Given the description of an element on the screen output the (x, y) to click on. 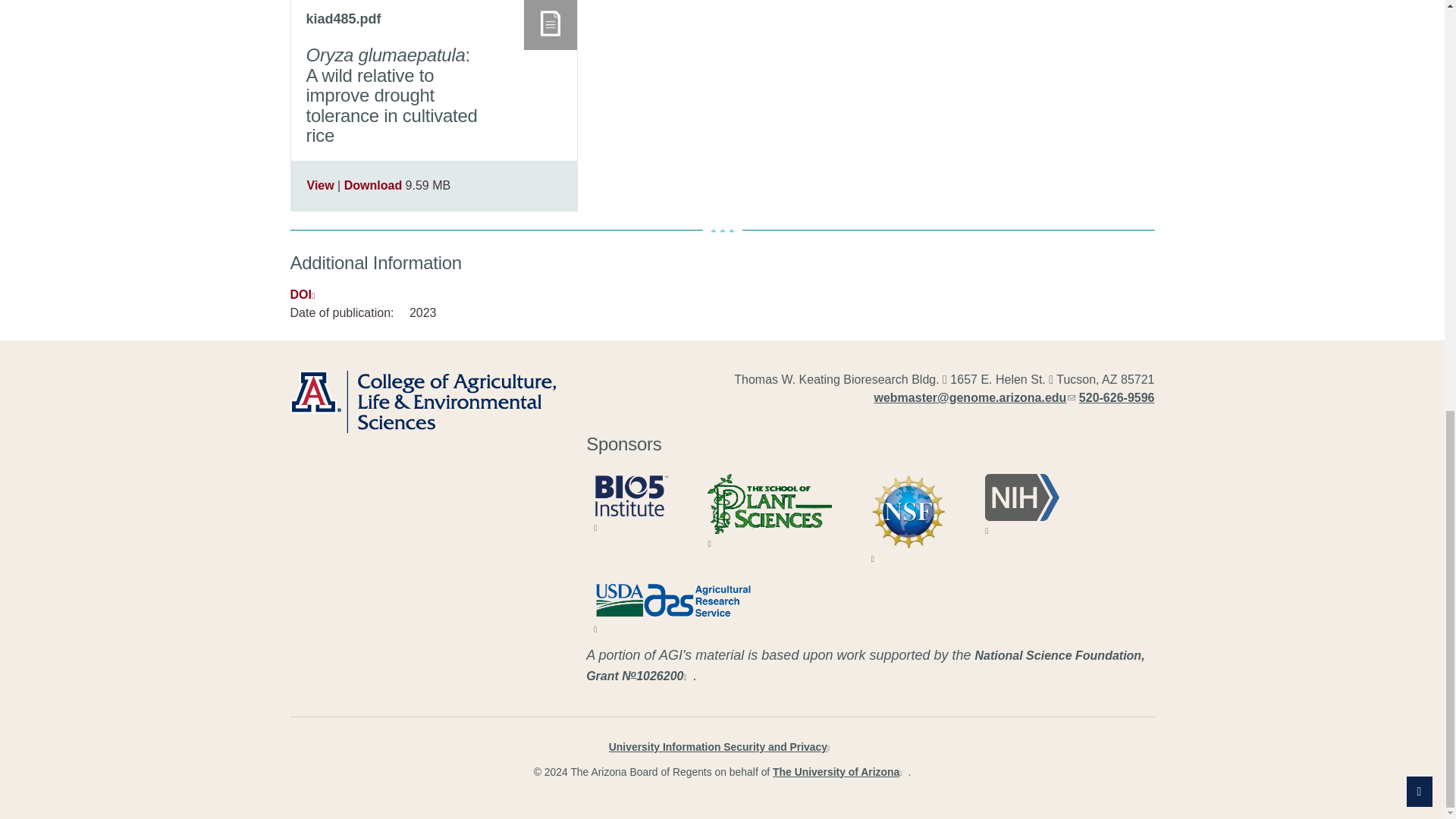
National Science Foundation (907, 511)
View (319, 185)
Download (372, 185)
520-626-9596 (1116, 397)
DOI (304, 294)
Bio5 Institute (631, 495)
The School of Plant Sciences (769, 503)
